Given the description of an element on the screen output the (x, y) to click on. 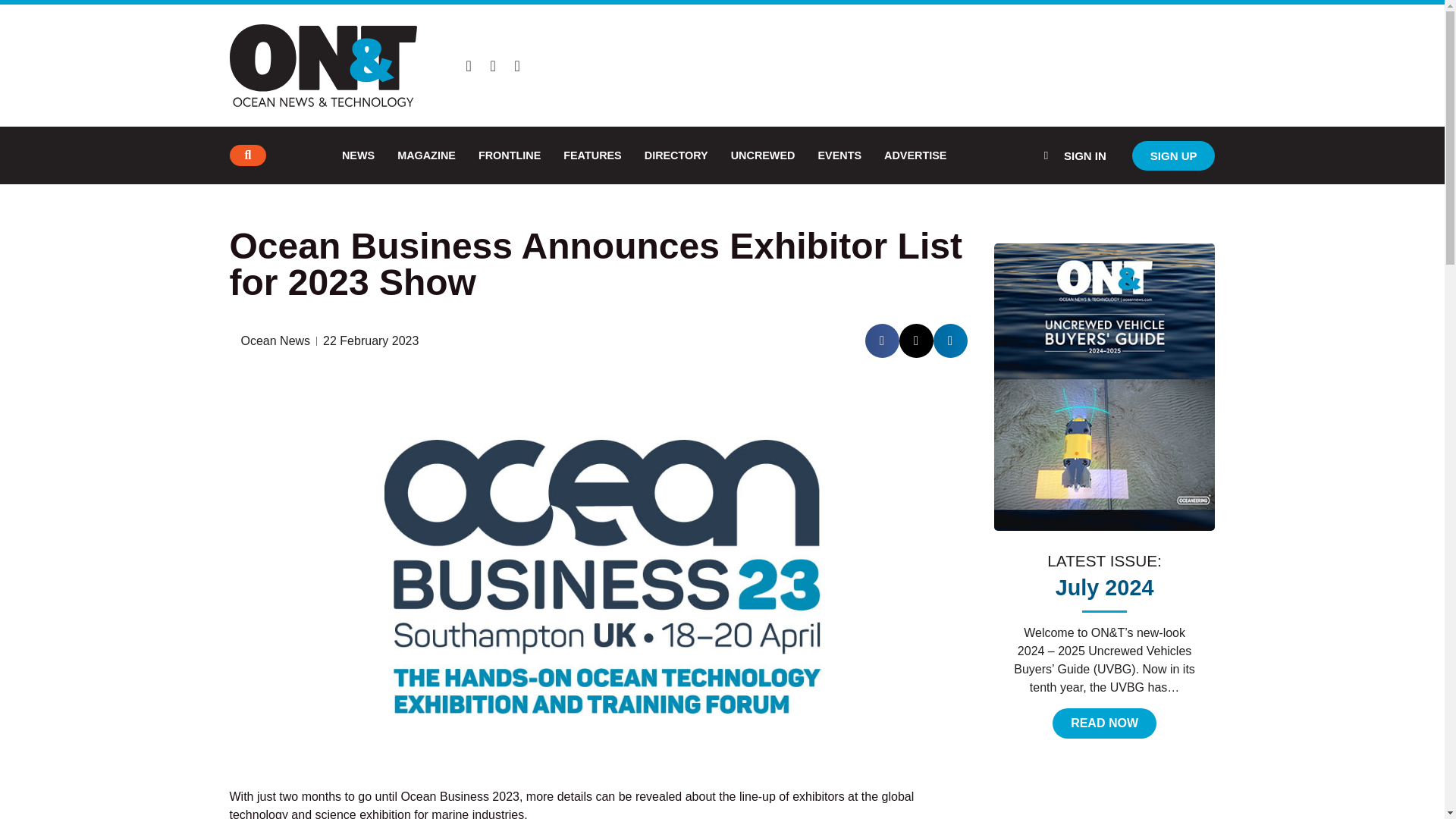
DIRECTORY (676, 155)
NEWS (357, 155)
UNCREWED (762, 155)
MAGAZINE (426, 155)
FRONTLINE (509, 155)
ADVERTISE (915, 155)
EVENTS (839, 155)
FEATURES (592, 155)
